Given the description of an element on the screen output the (x, y) to click on. 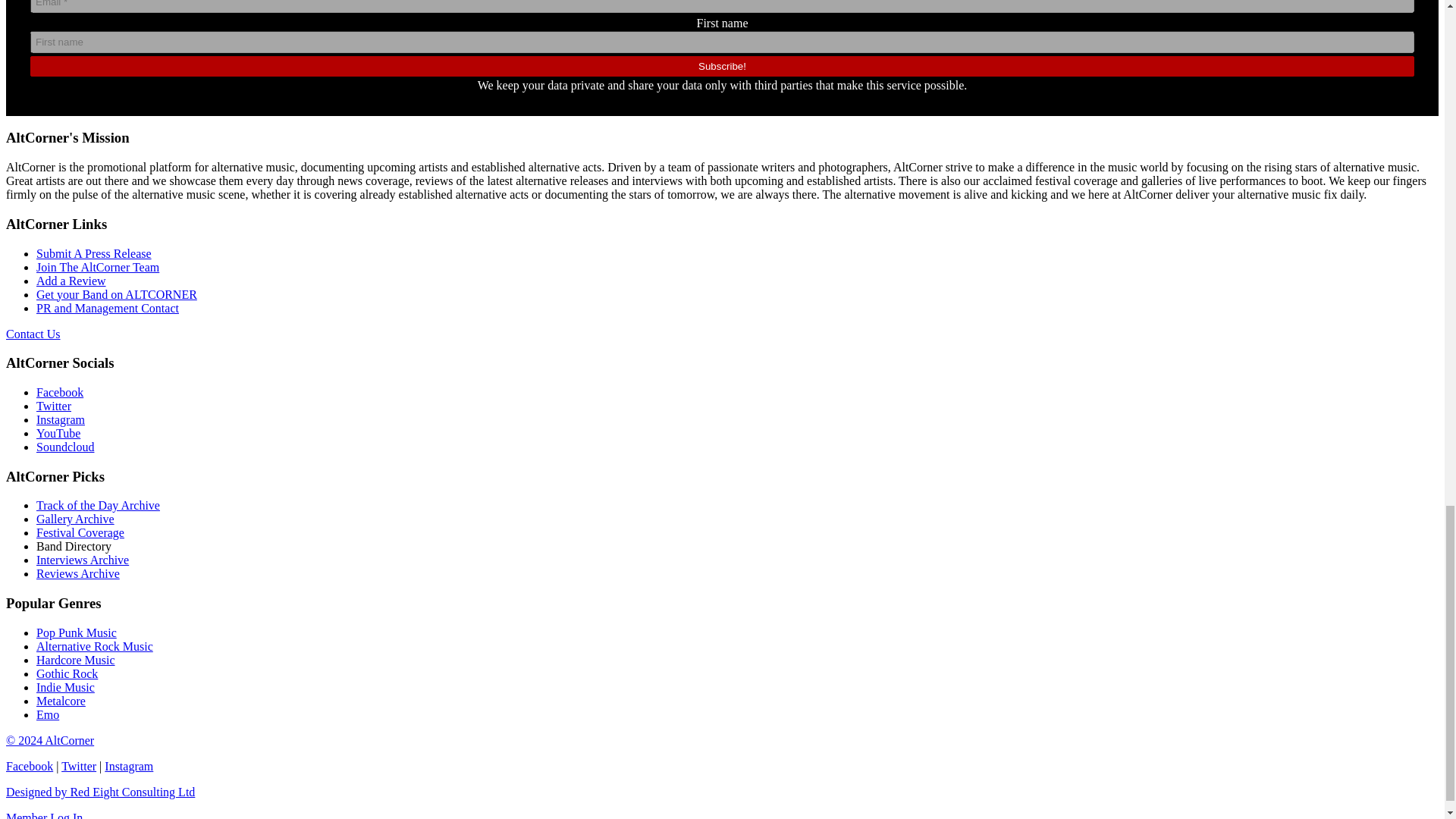
Subscribe! (721, 66)
